Given the description of an element on the screen output the (x, y) to click on. 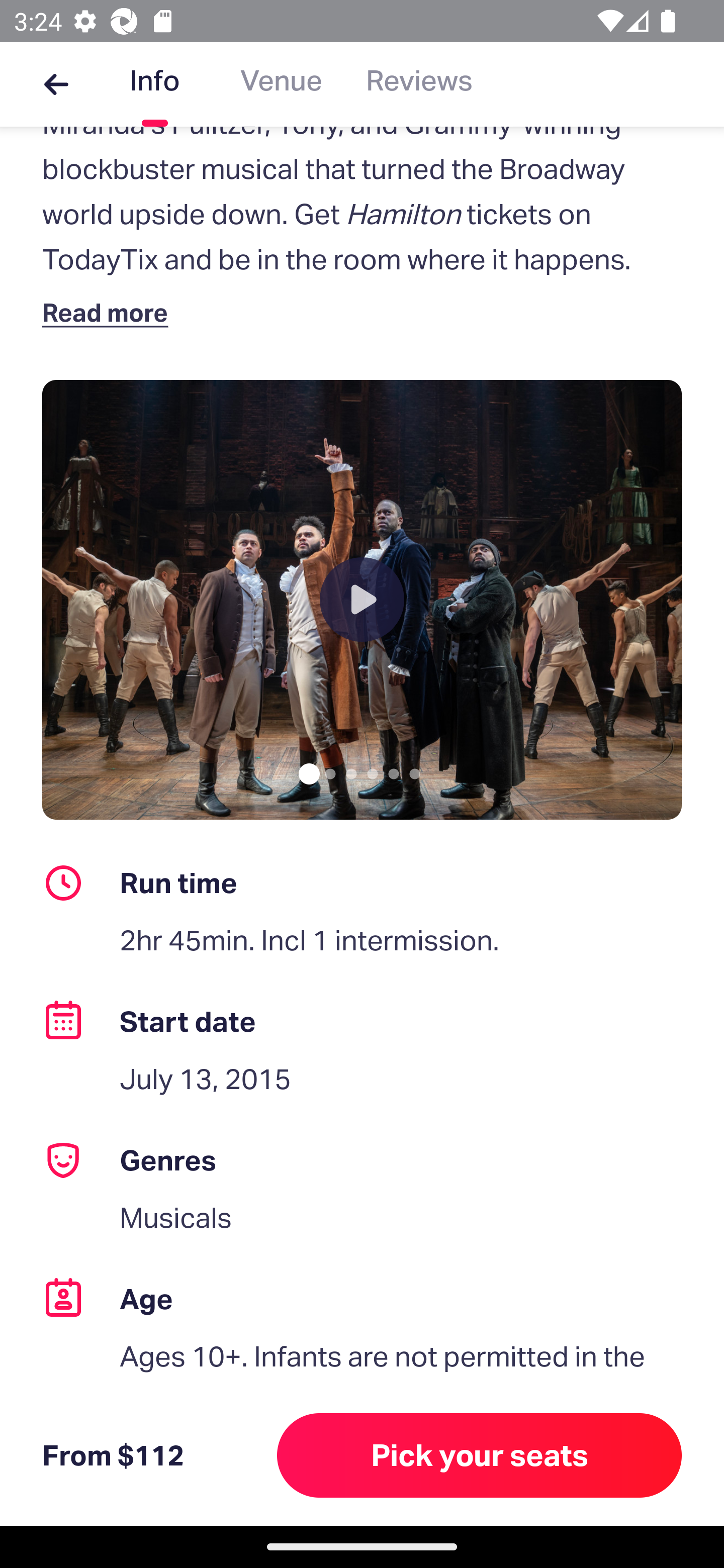
Venue (280, 84)
Reviews (419, 84)
Read more (109, 311)
Pick your seats (479, 1454)
